Given the description of an element on the screen output the (x, y) to click on. 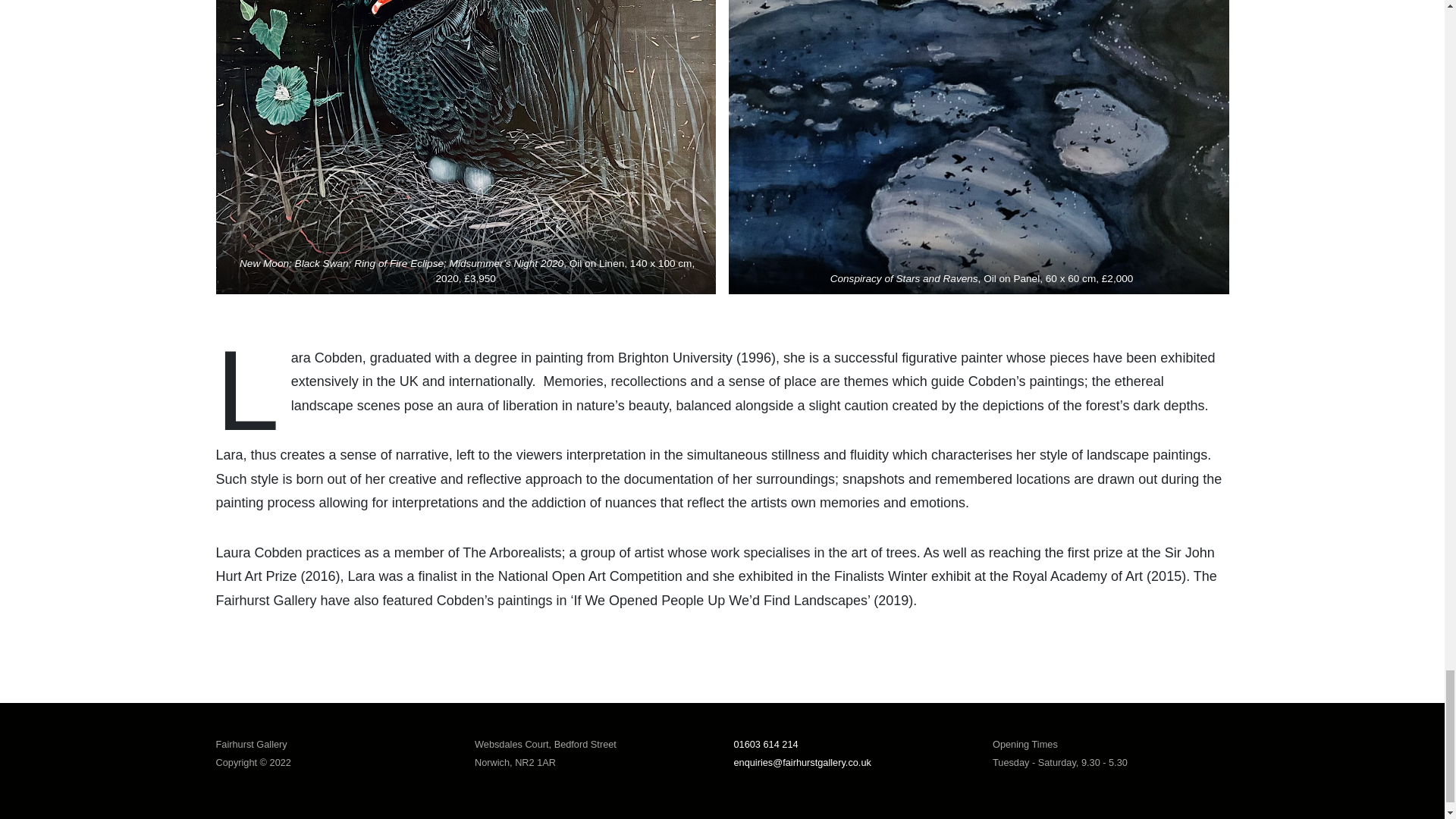
01603 614 214 (765, 744)
